Given the description of an element on the screen output the (x, y) to click on. 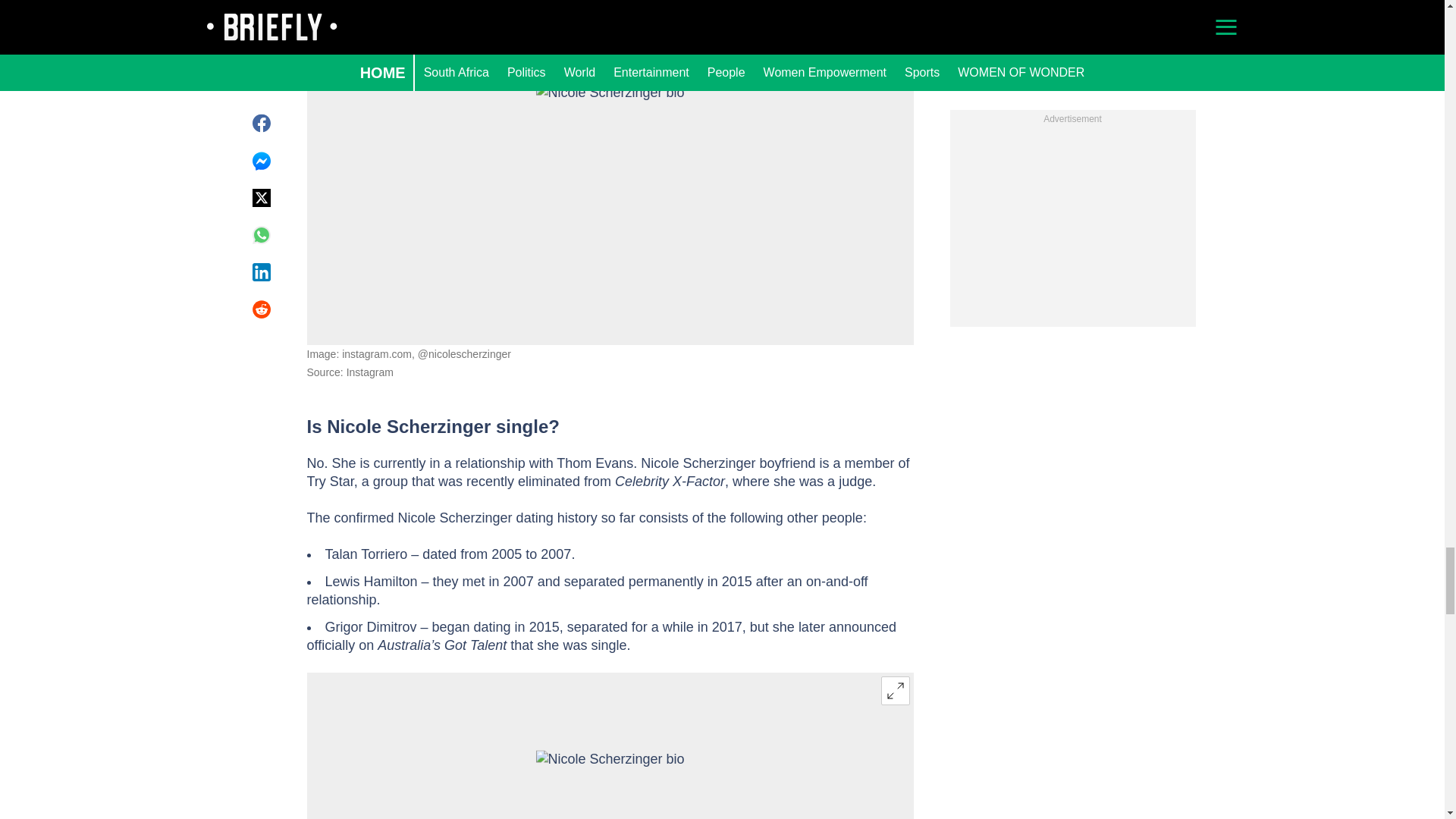
Expand image (895, 21)
Nicole Scherzinger bio (609, 784)
Expand image (895, 690)
